Given the description of an element on the screen output the (x, y) to click on. 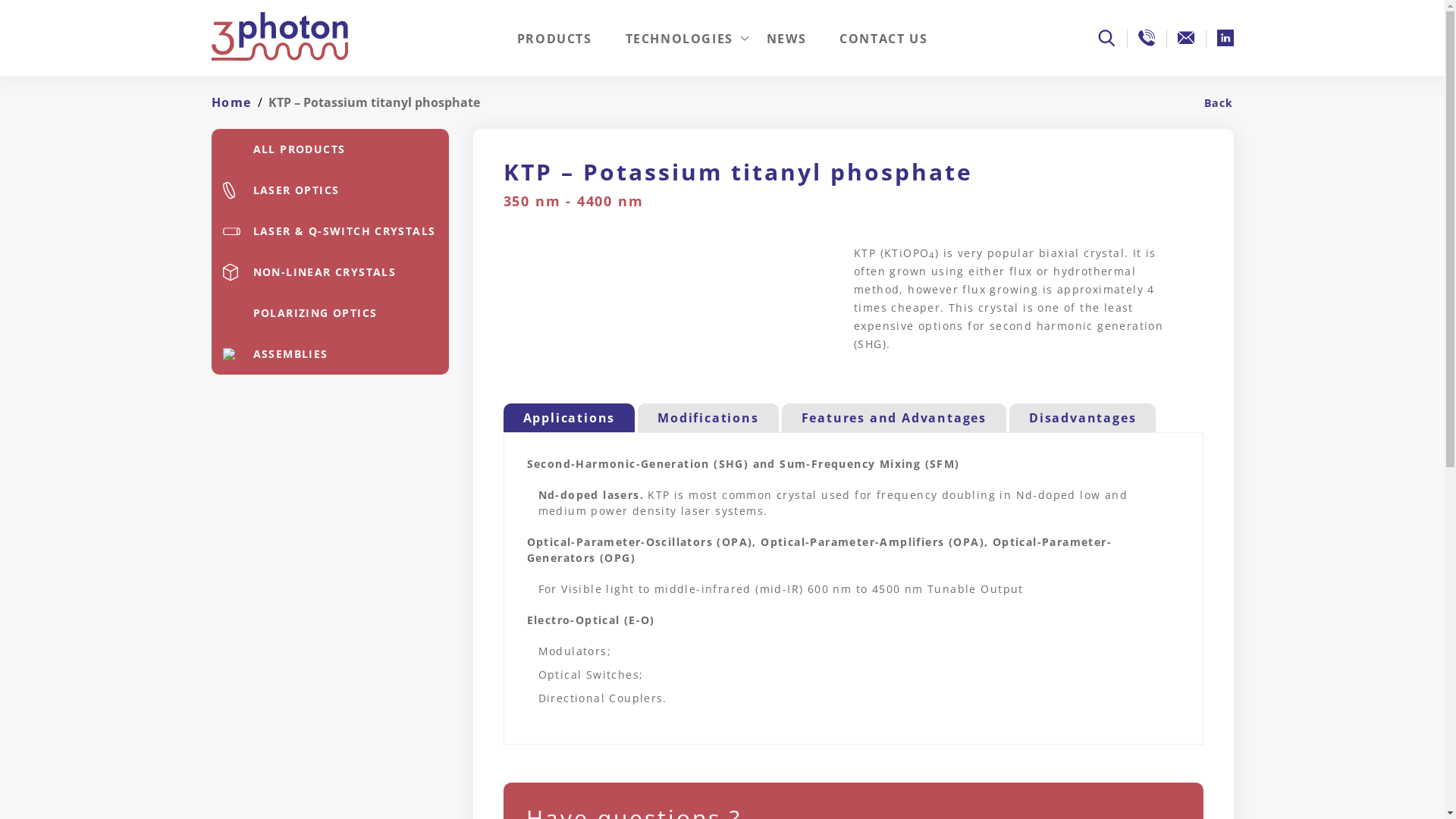
POLARIZING OPTICS Element type: text (329, 312)
NEWS Element type: text (786, 54)
NON-LINEAR CRYSTALS Element type: text (329, 271)
LASER & Q-SWITCH CRYSTALS Element type: text (329, 230)
ASSEMBLIES Element type: text (329, 353)
CONTACT US Element type: text (883, 54)
TECHNOLOGIES Element type: text (679, 54)
Back Element type: text (1211, 102)
Submit Element type: text (475, 546)
ALL PRODUCTS Element type: text (329, 148)
PRODUCTS Element type: text (554, 54)
Home Element type: text (230, 102)
LASER OPTICS Element type: text (329, 189)
